Given the description of an element on the screen output the (x, y) to click on. 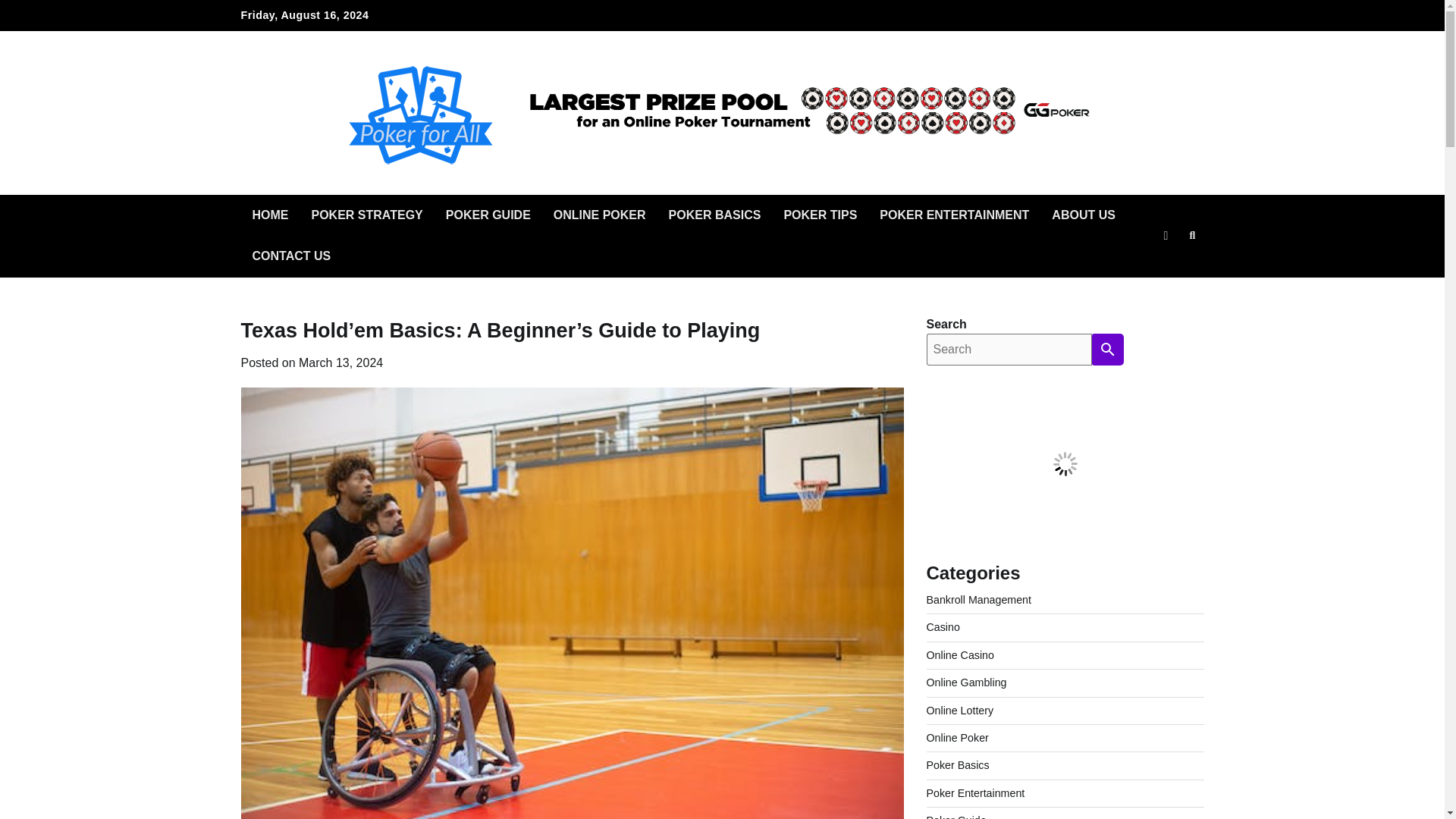
HOME (270, 214)
Casino (942, 626)
POKER GUIDE (487, 214)
POKER BASICS (715, 214)
ONLINE POKER (599, 214)
Bankroll Management (978, 599)
POKER ENTERTAINMENT (954, 214)
Search (1192, 235)
Online Casino (960, 654)
Search (1164, 271)
